Given the description of an element on the screen output the (x, y) to click on. 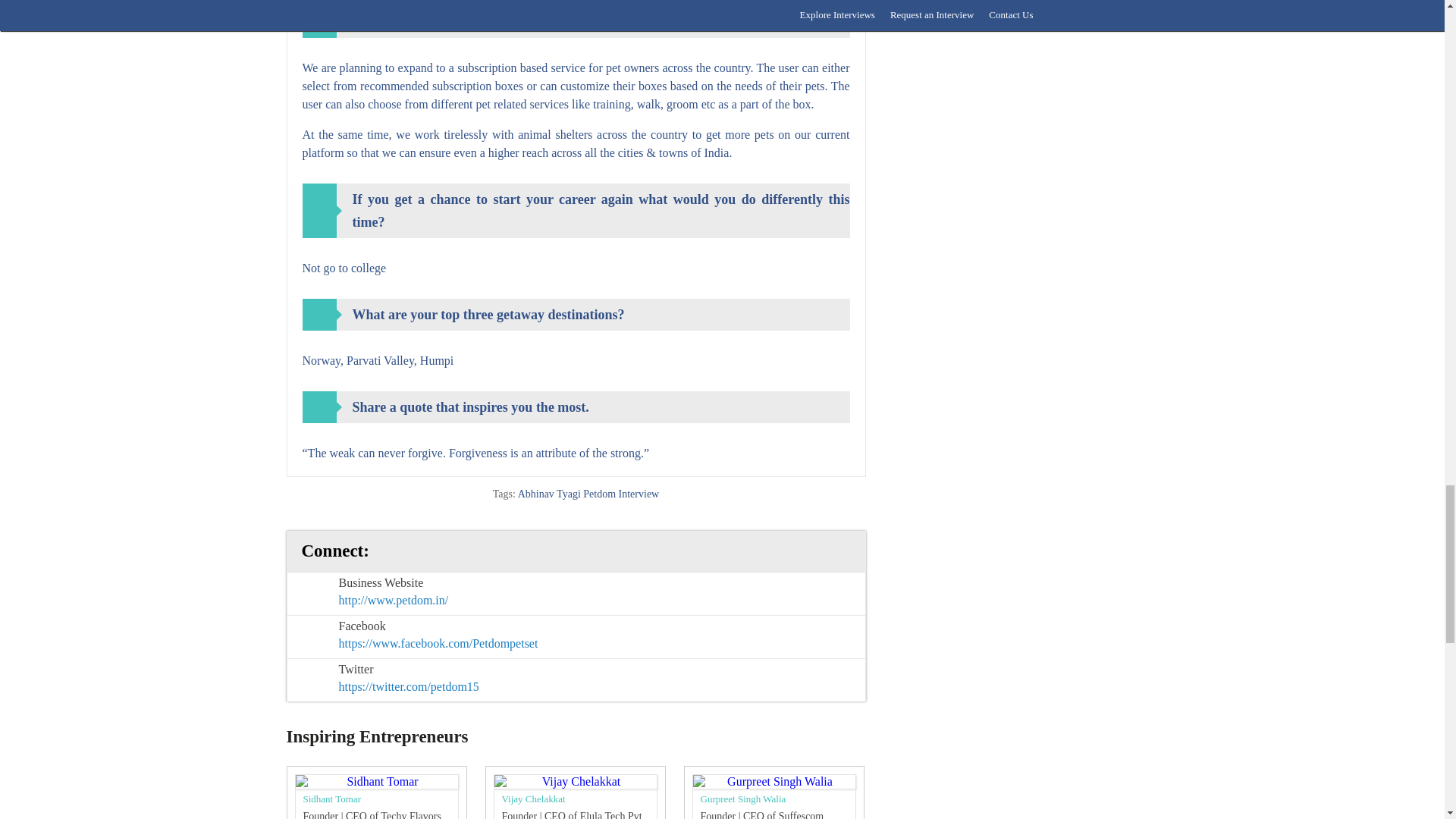
Vijay Chelakkat (534, 797)
Abhinav Tyagi Petdom Interview (588, 493)
Sidhant Tomar (331, 797)
Gurpreet Singh Walia (743, 797)
